Given the description of an element on the screen output the (x, y) to click on. 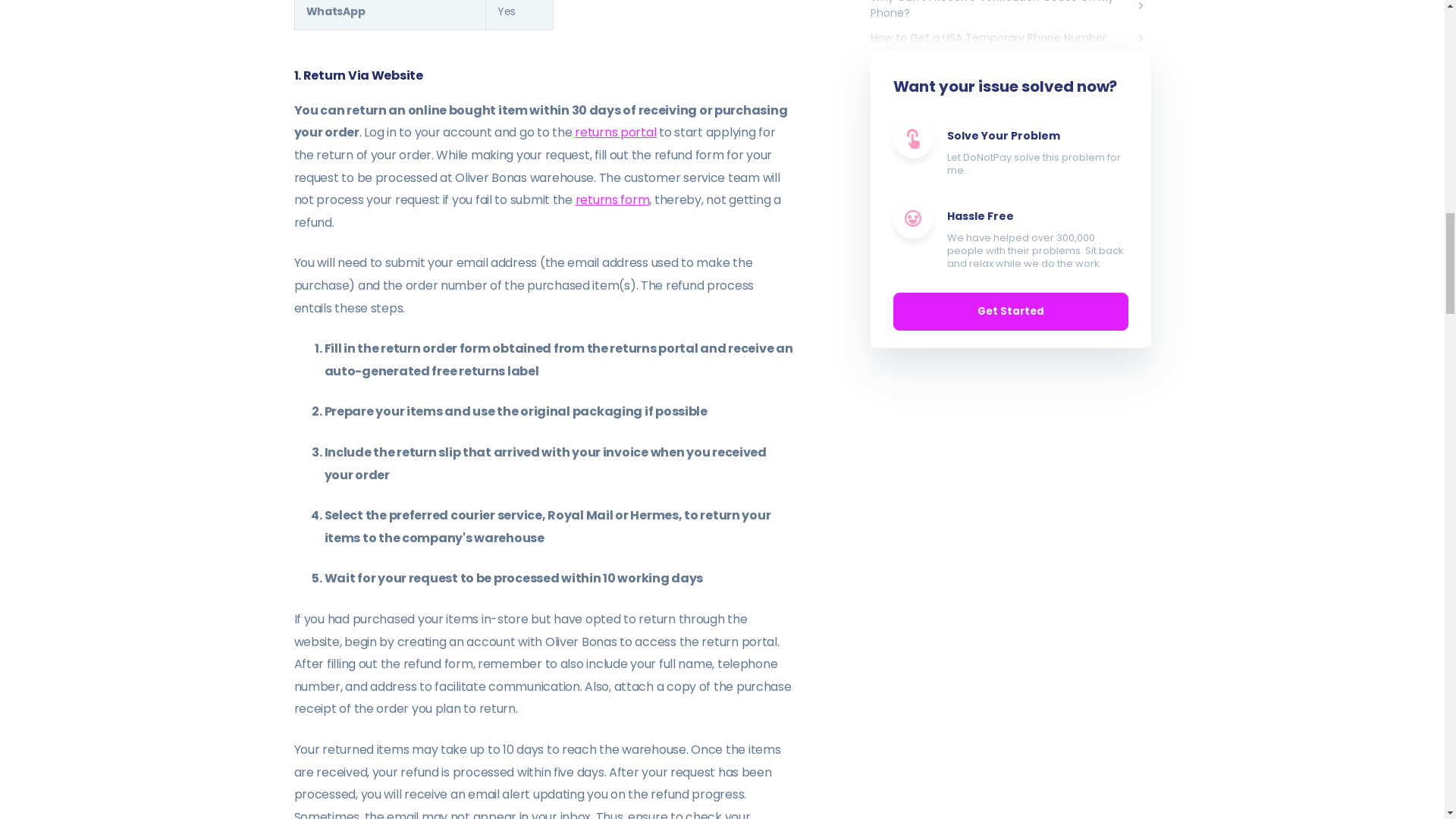
returns form (612, 199)
returns portal (615, 131)
